Given the description of an element on the screen output the (x, y) to click on. 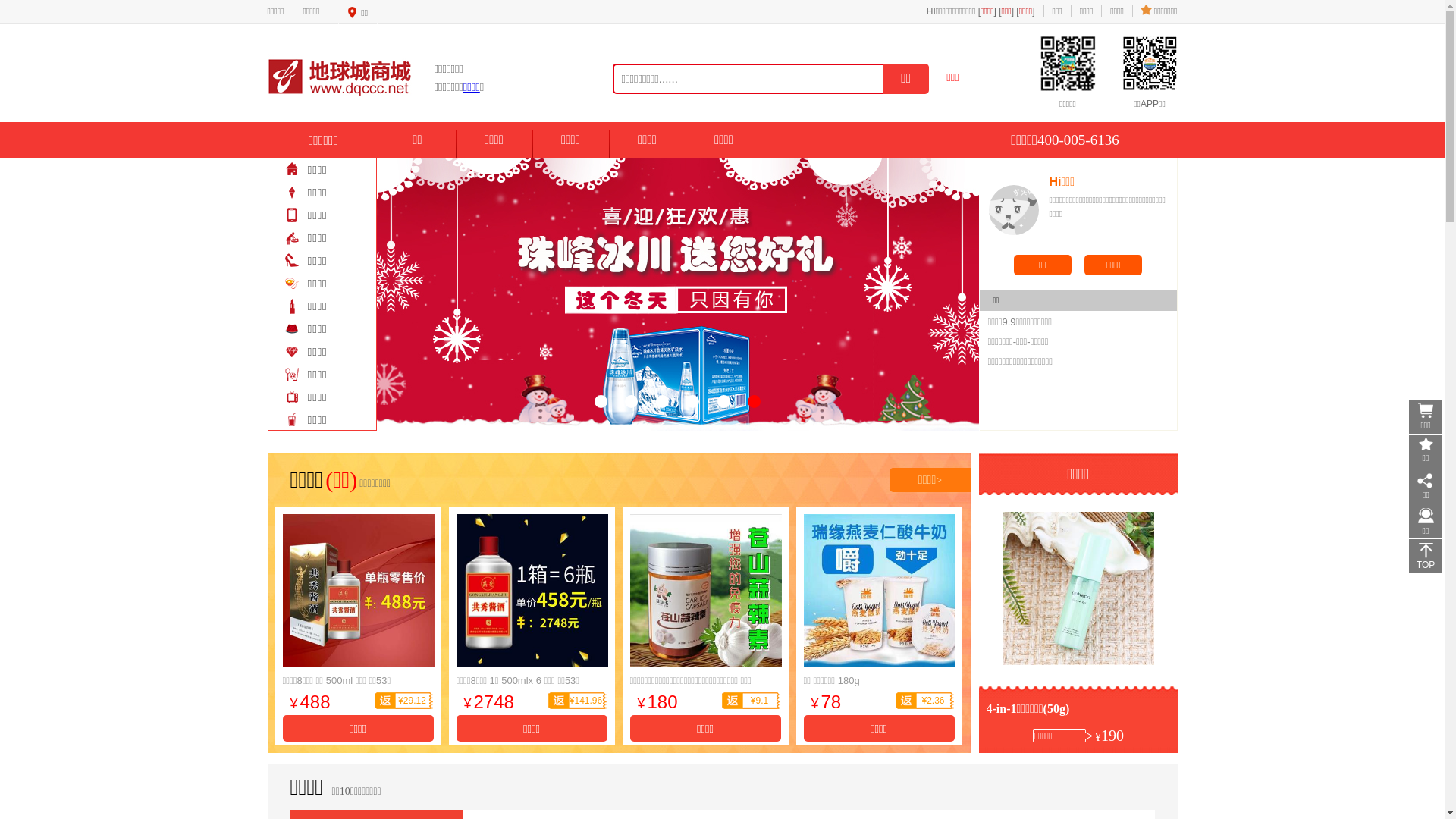
TOP Element type: text (1425, 556)
